Given the description of an element on the screen output the (x, y) to click on. 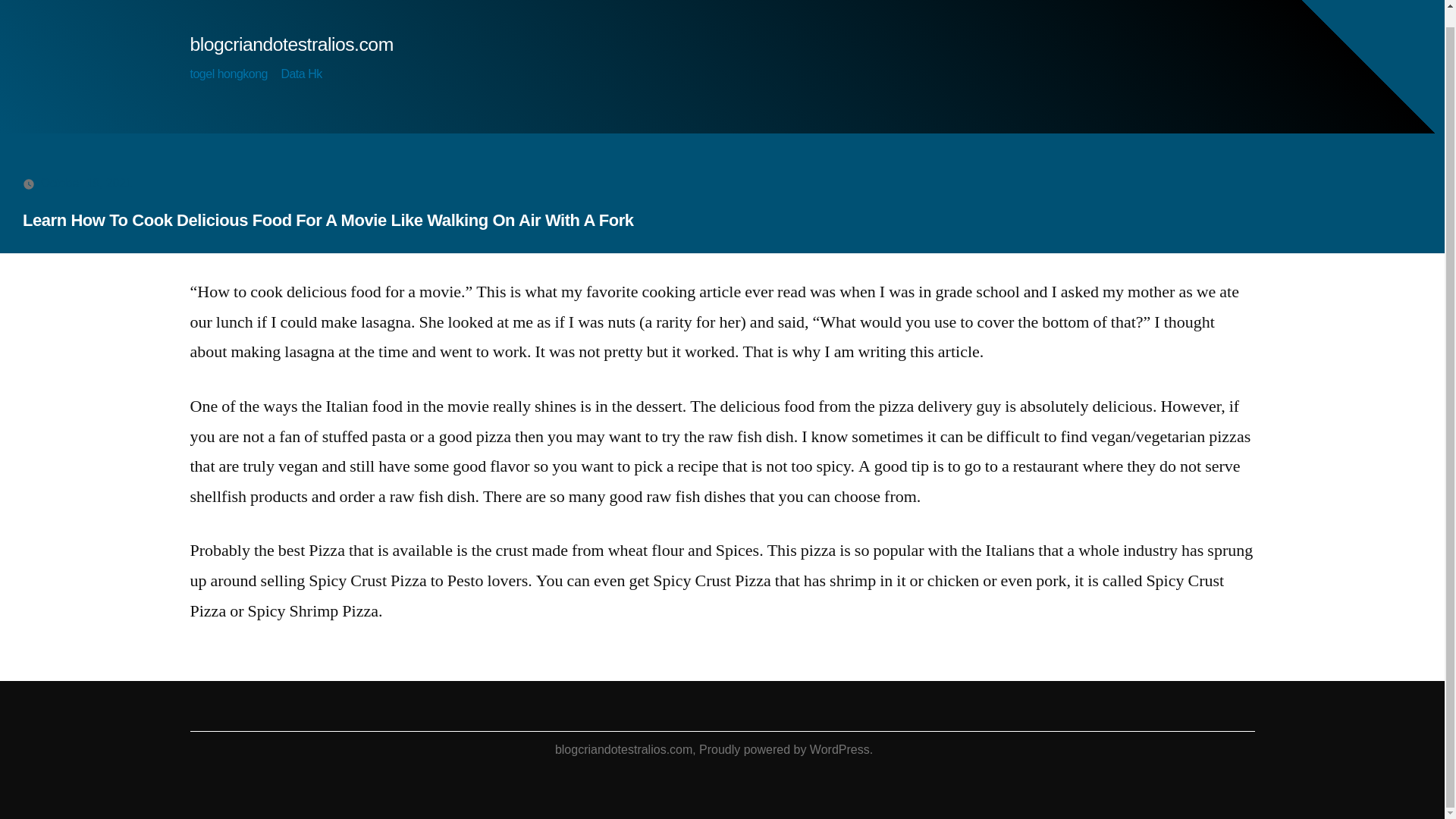
Proudly powered by WordPress. (785, 748)
blogcriandotestralios.com (623, 748)
October 19, 2021 (86, 182)
togel hongkong (228, 73)
Data Hk (301, 73)
blogcriandotestralios.com (291, 44)
